Given the description of an element on the screen output the (x, y) to click on. 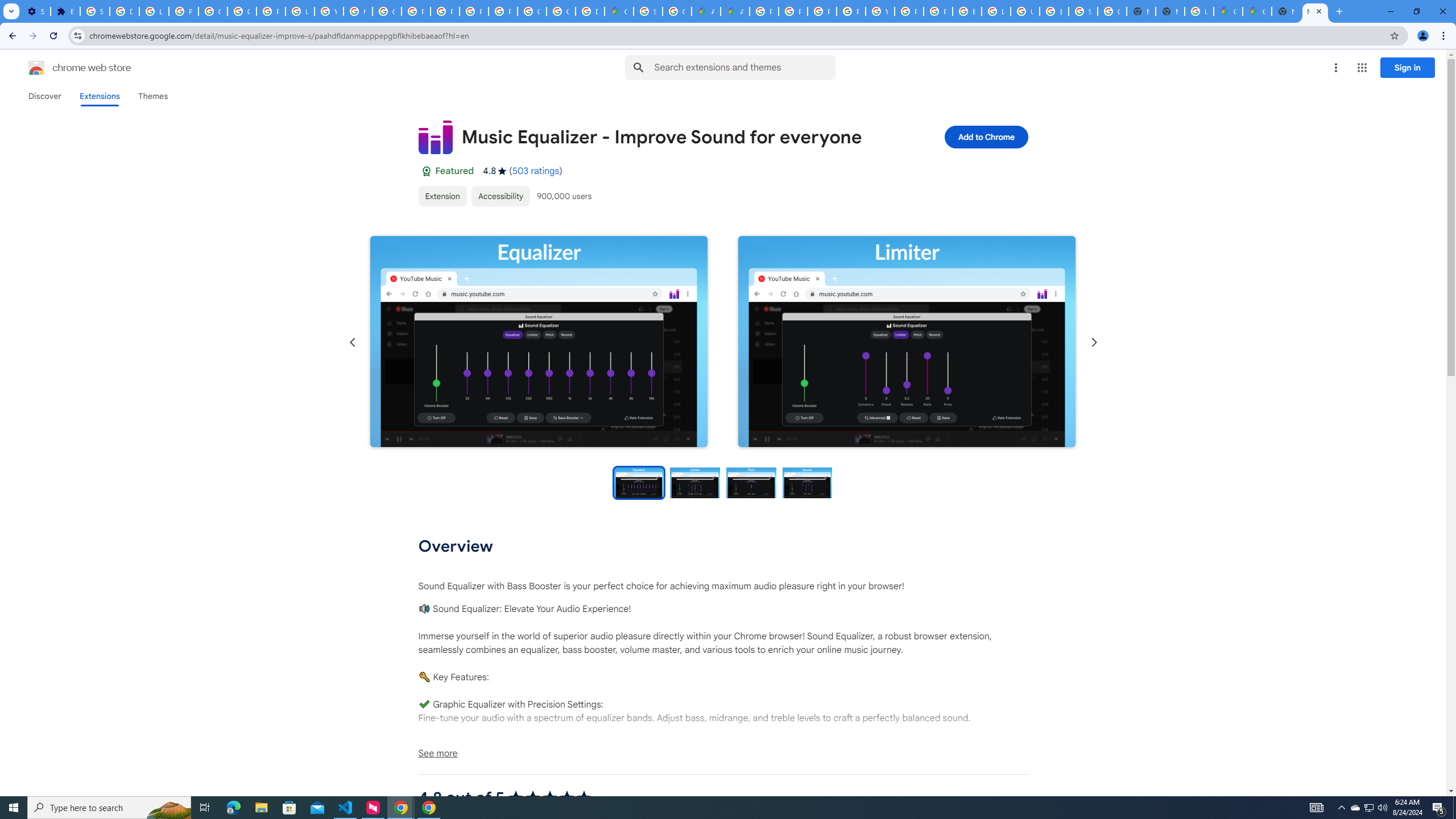
Google Maps (1256, 11)
Reload (52, 35)
Preview slide 3 (751, 482)
View site information (77, 35)
Google Maps (1227, 11)
Google Account Help (212, 11)
Extension (442, 195)
Use Google Maps in Space - Google Maps Help (1198, 11)
Google apps (1362, 67)
Item media 1 screenshot (538, 341)
Restore (1416, 11)
YouTube (879, 11)
